Given the description of an element on the screen output the (x, y) to click on. 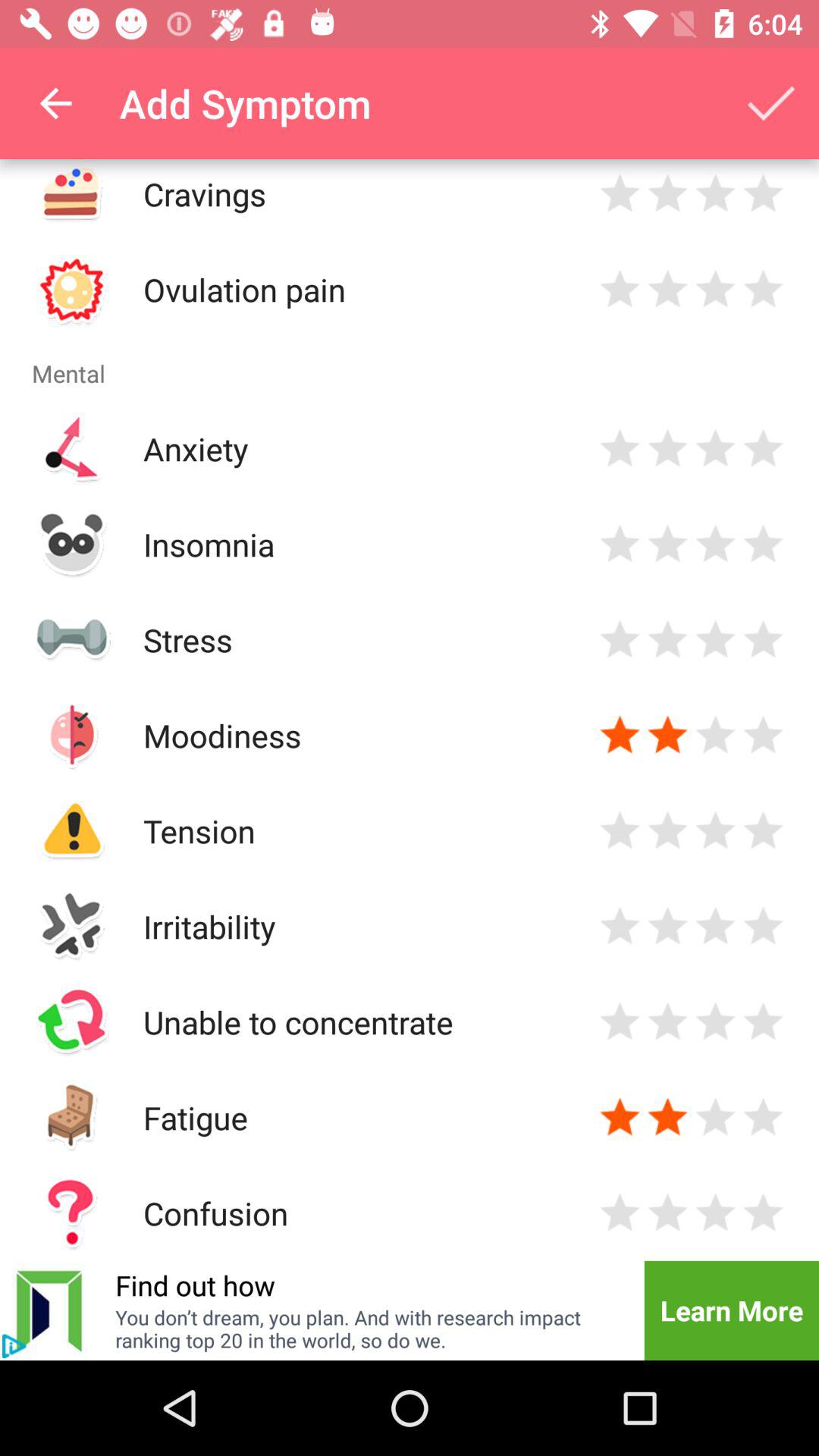
four star rating (763, 639)
